Given the description of an element on the screen output the (x, y) to click on. 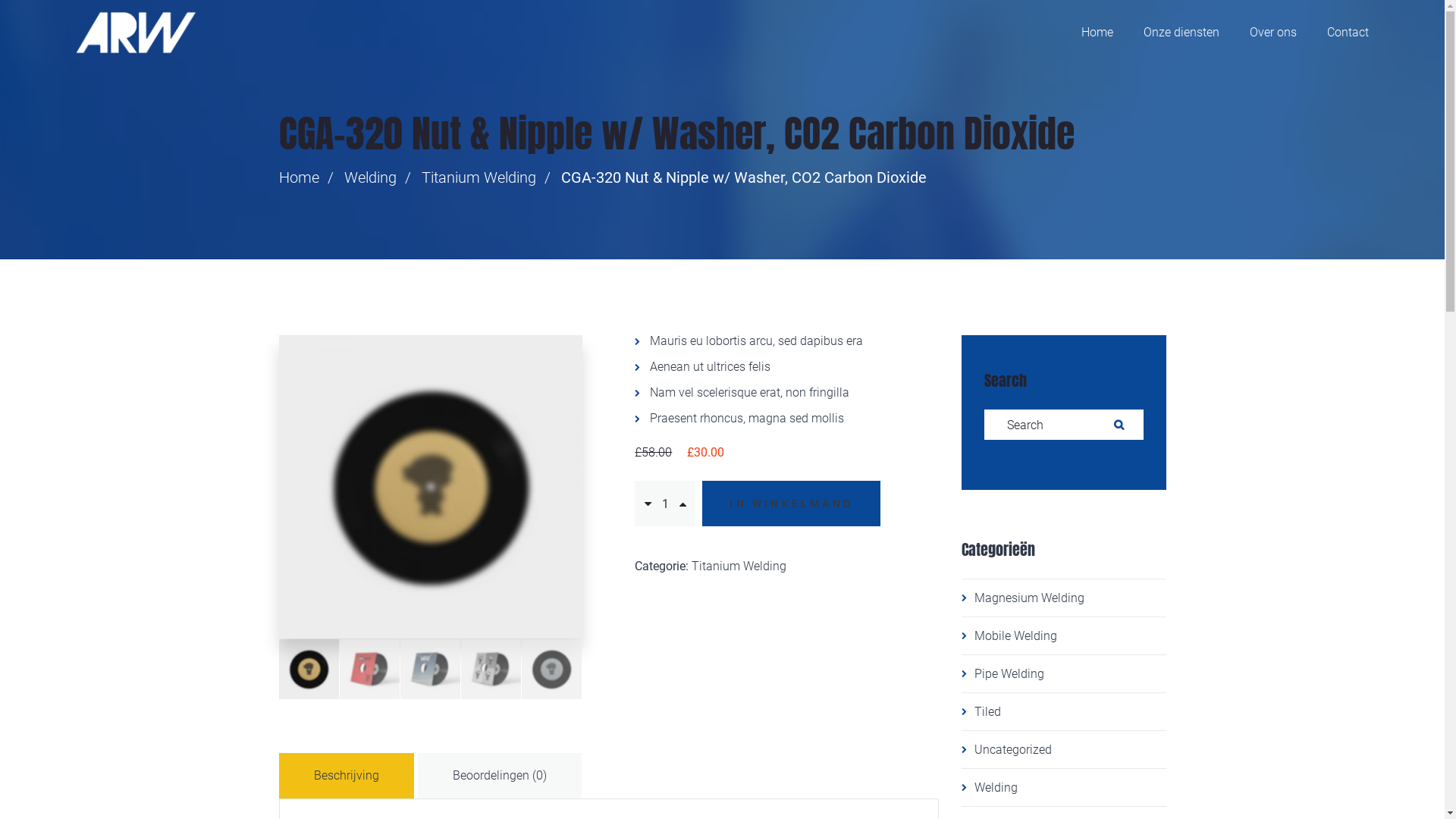
SEARCH Element type: text (1120, 424)
08 Element type: hover (430, 486)
Beoordelingen (0) Element type: text (498, 775)
Beschrijving Element type: text (346, 775)
Pipe Welding Element type: text (1063, 673)
Aantal Element type: hover (664, 503)
Onze diensten Element type: text (1181, 32)
Over ons Element type: text (1272, 32)
Tiled Element type: text (1063, 711)
Welding Element type: text (1063, 787)
Titanium Welding Element type: text (478, 177)
Uncategorized Element type: text (1063, 749)
Search for: Element type: hover (1063, 424)
Home Element type: text (1097, 32)
Magnesium Welding Element type: text (1063, 597)
Contact Element type: text (1347, 32)
Mobile Welding Element type: text (1063, 635)
Home Element type: text (299, 177)
IN WINKELMAND Element type: text (791, 503)
Titanium Welding Element type: text (738, 565)
Welding Element type: text (370, 177)
